Given the description of an element on the screen output the (x, y) to click on. 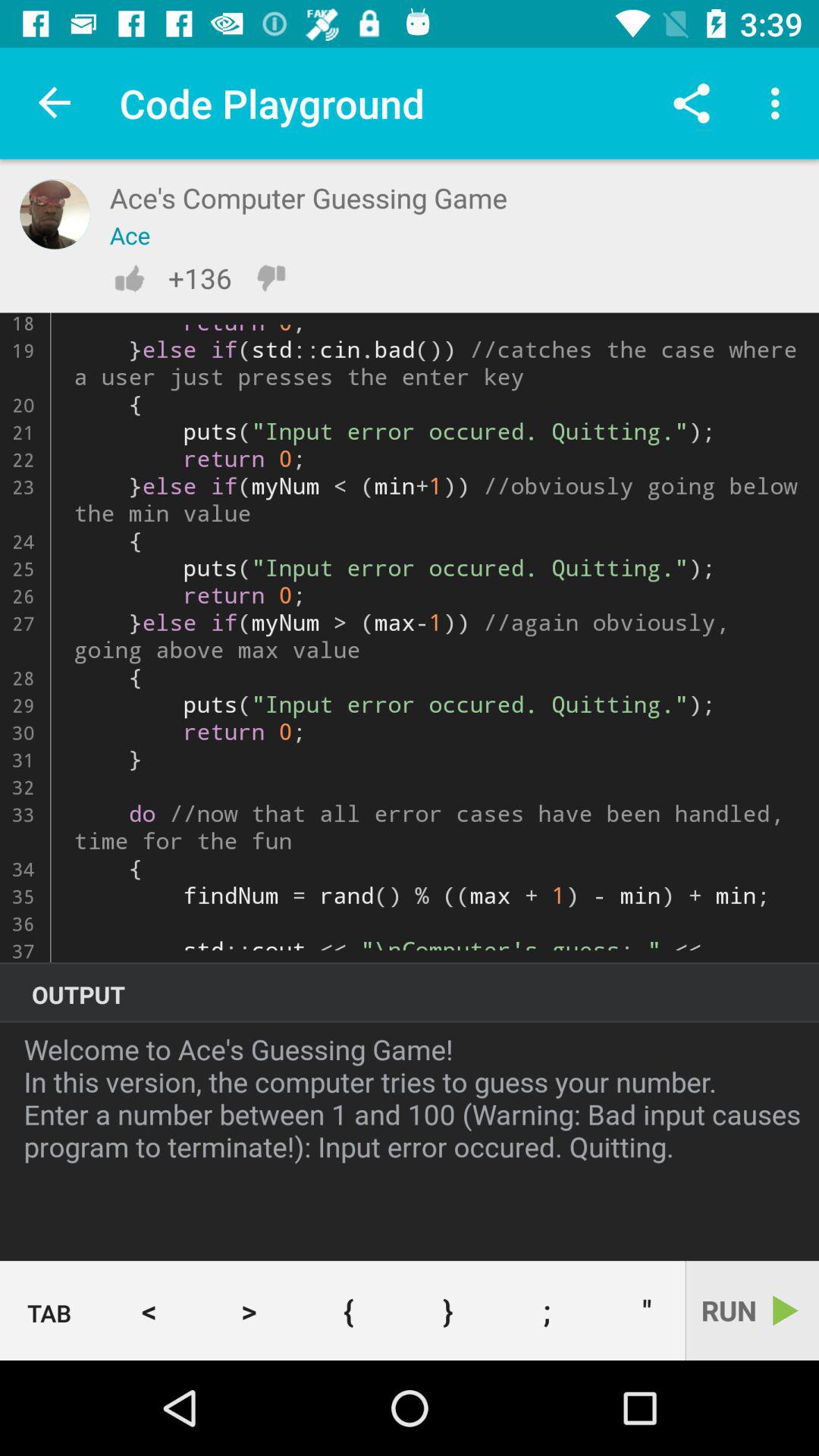
turn off the item to the right of the { item (447, 1310)
